Given the description of an element on the screen output the (x, y) to click on. 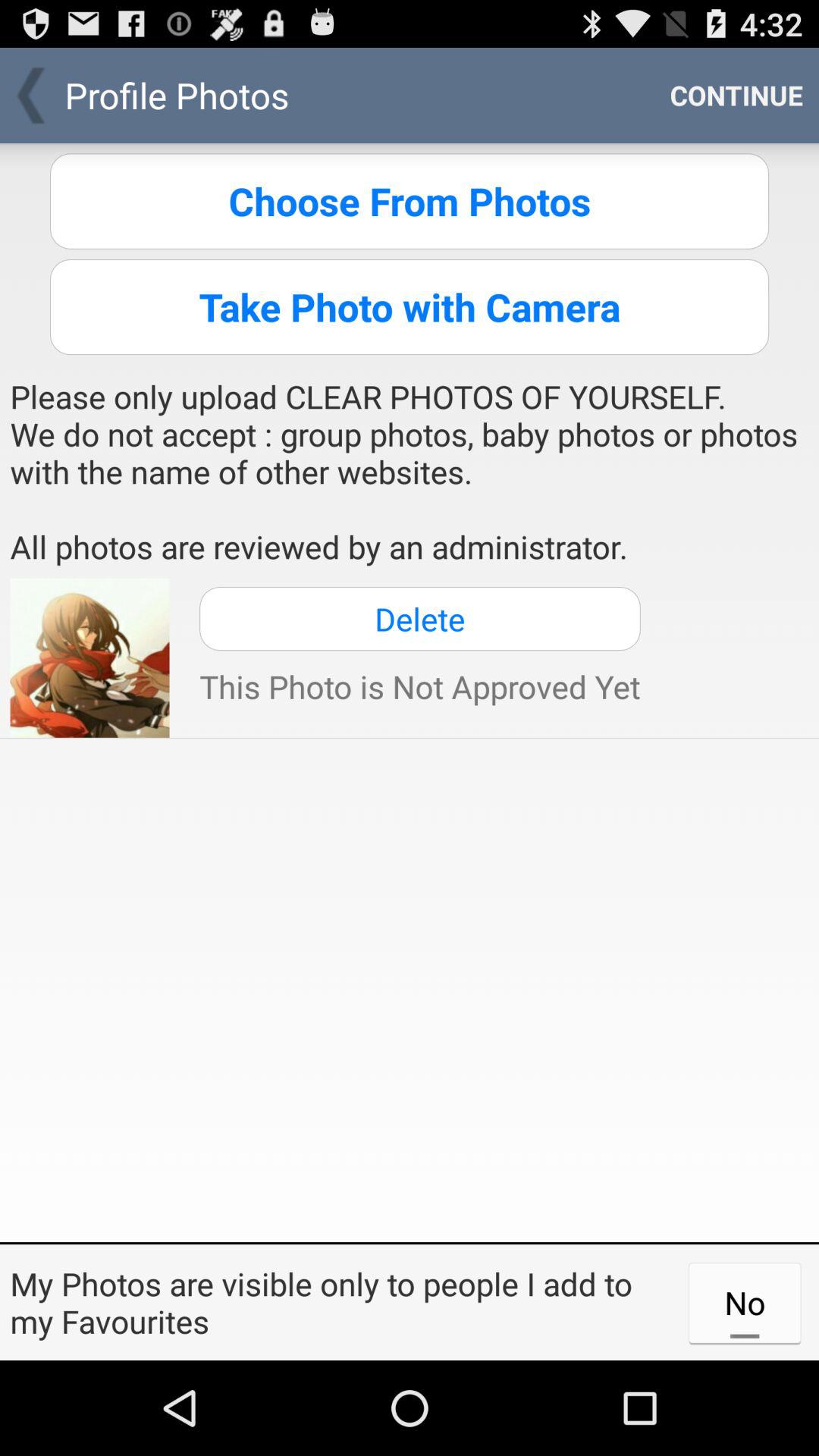
click the no icon (744, 1302)
